Given the description of an element on the screen output the (x, y) to click on. 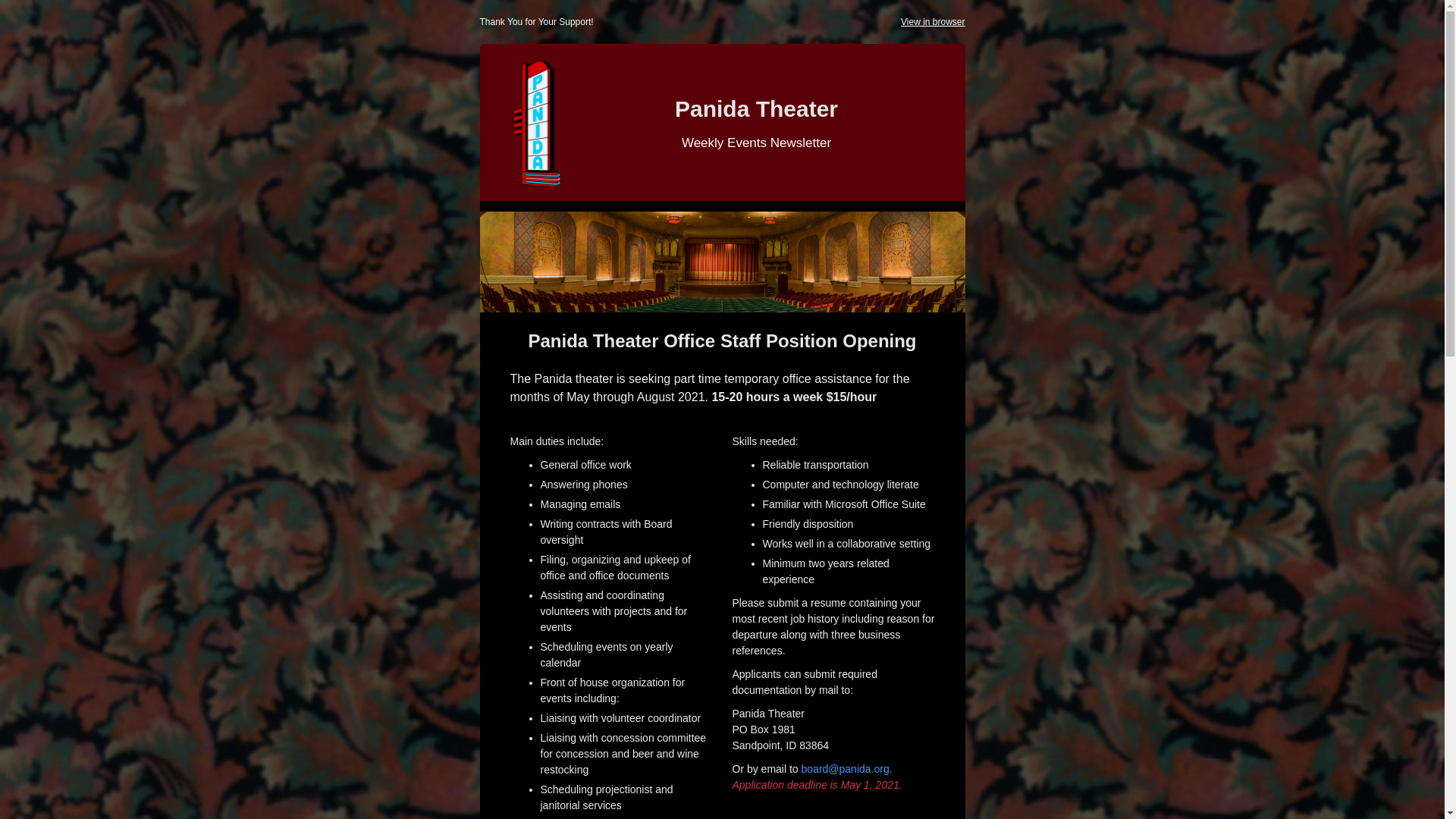
Panida Theater Office Staff Position Opening (721, 340)
Panida Theater (756, 108)
View in browser (932, 21)
